Given the description of an element on the screen output the (x, y) to click on. 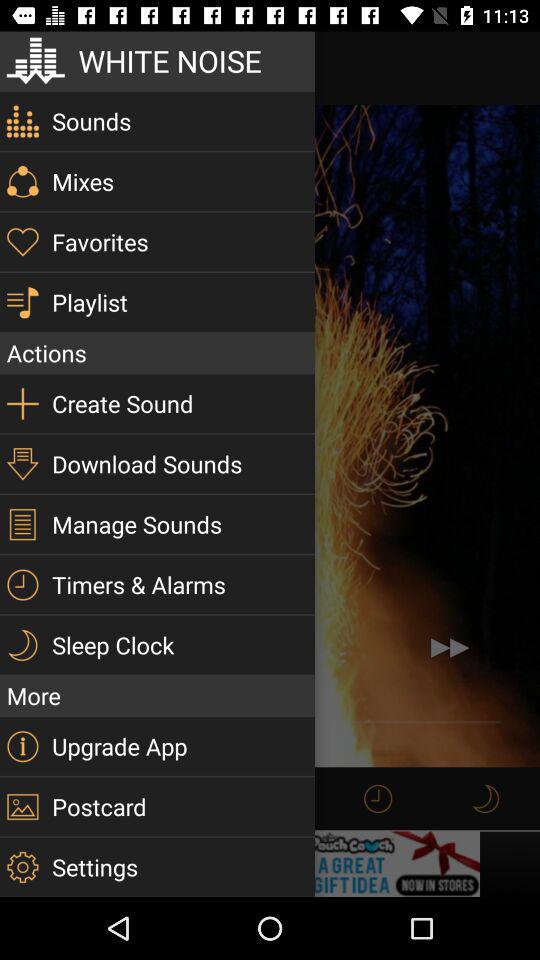
select the settings icon (21, 867)
click on the fast forward (450, 648)
click on symbol left to playlist (21, 302)
click on icon left to timers  alarms (21, 584)
